Given the description of an element on the screen output the (x, y) to click on. 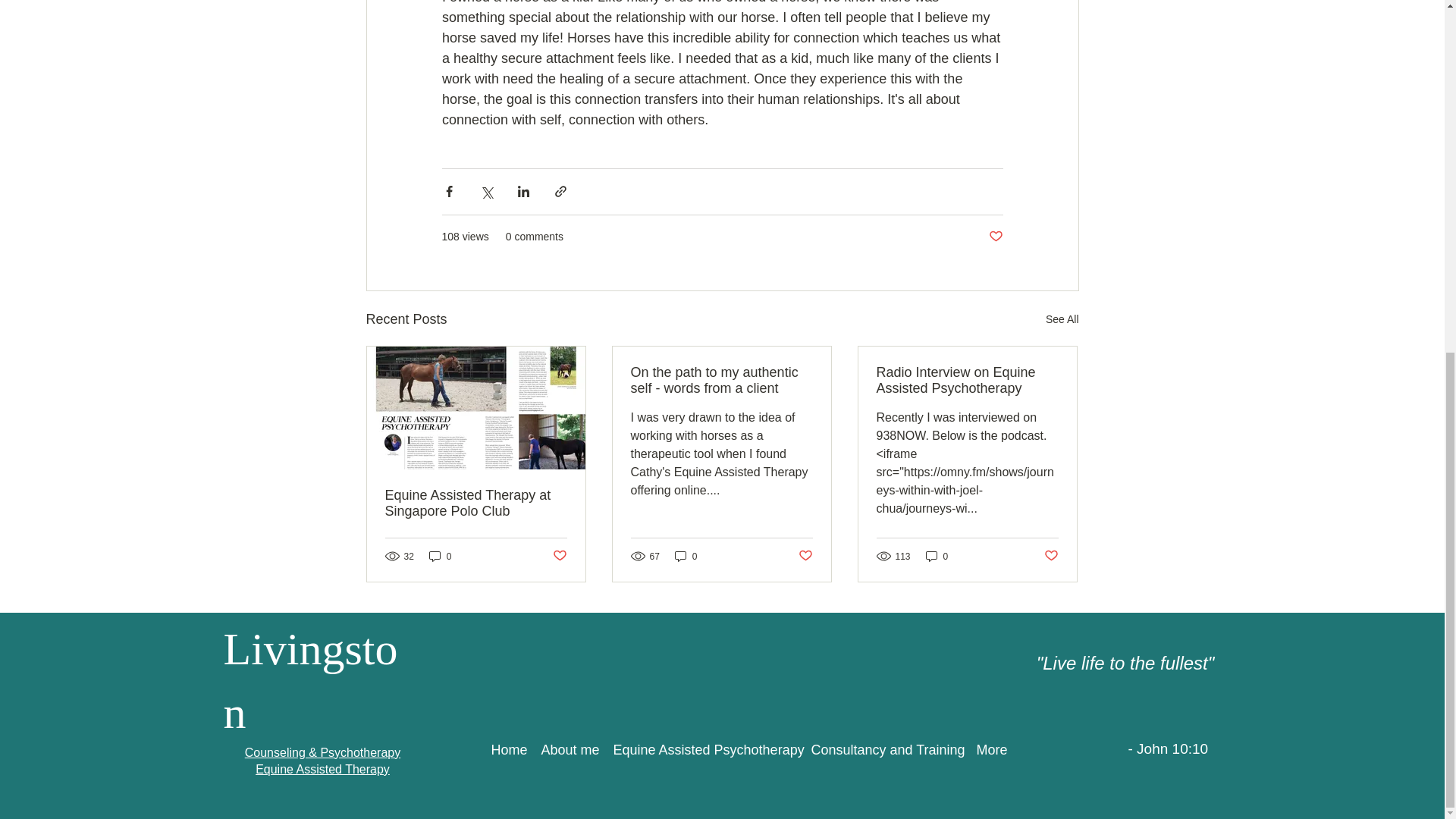
0 (685, 555)
On the path to my authentic self - words from a client (721, 380)
Post not marked as liked (1050, 555)
Home (506, 750)
Post not marked as liked (804, 555)
Livingston (309, 680)
See All (1061, 319)
Post not marked as liked (558, 555)
Radio Interview on Equine Assisted Psychotherapy (967, 380)
0 (440, 555)
